Given the description of an element on the screen output the (x, y) to click on. 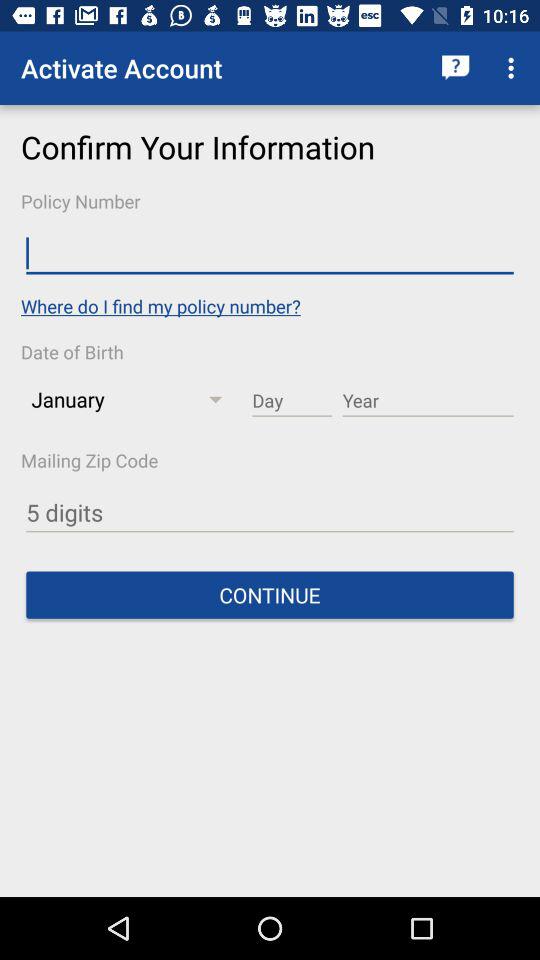
enter birthday (292, 401)
